Given the description of an element on the screen output the (x, y) to click on. 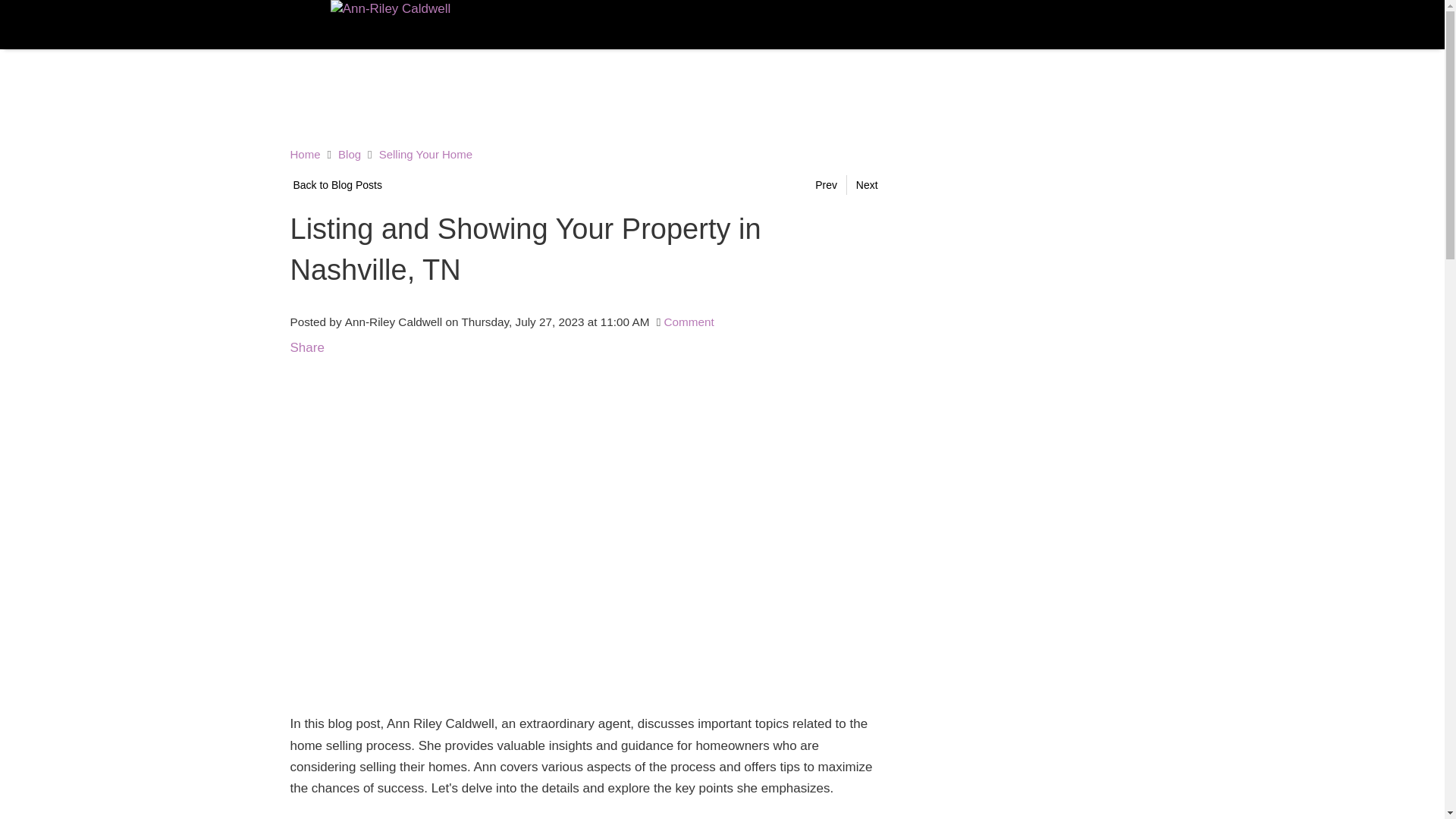
YouTube video player (450, 506)
